Given the description of an element on the screen output the (x, y) to click on. 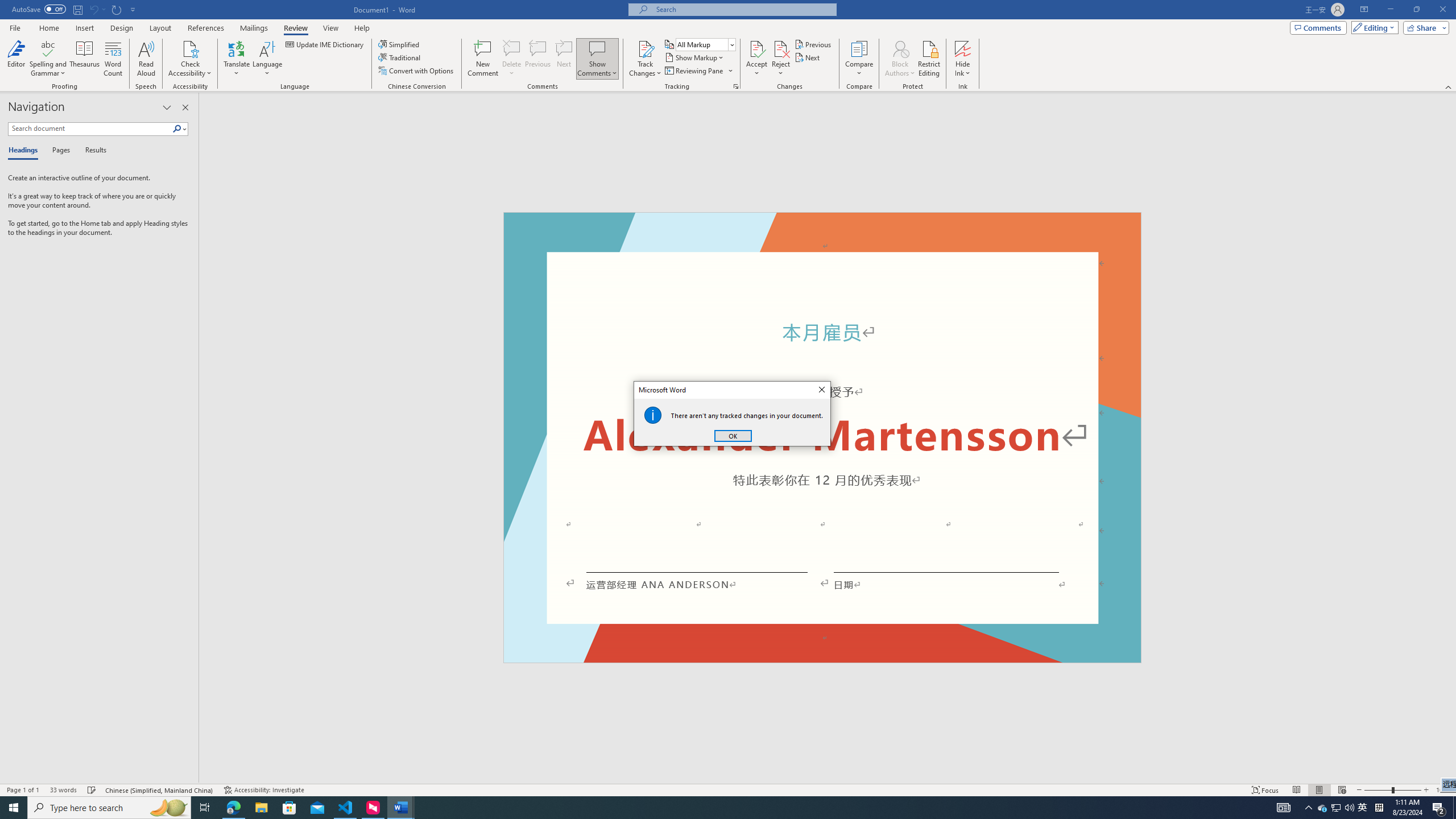
Compare (859, 58)
Display for Review (705, 44)
Read Aloud (145, 58)
Headings (25, 150)
Visual Studio Code - 1 running window (345, 807)
Restrict Editing (929, 58)
Microsoft search (742, 9)
Microsoft Store (289, 807)
Show desktop (1454, 807)
Next (808, 56)
